Given the description of an element on the screen output the (x, y) to click on. 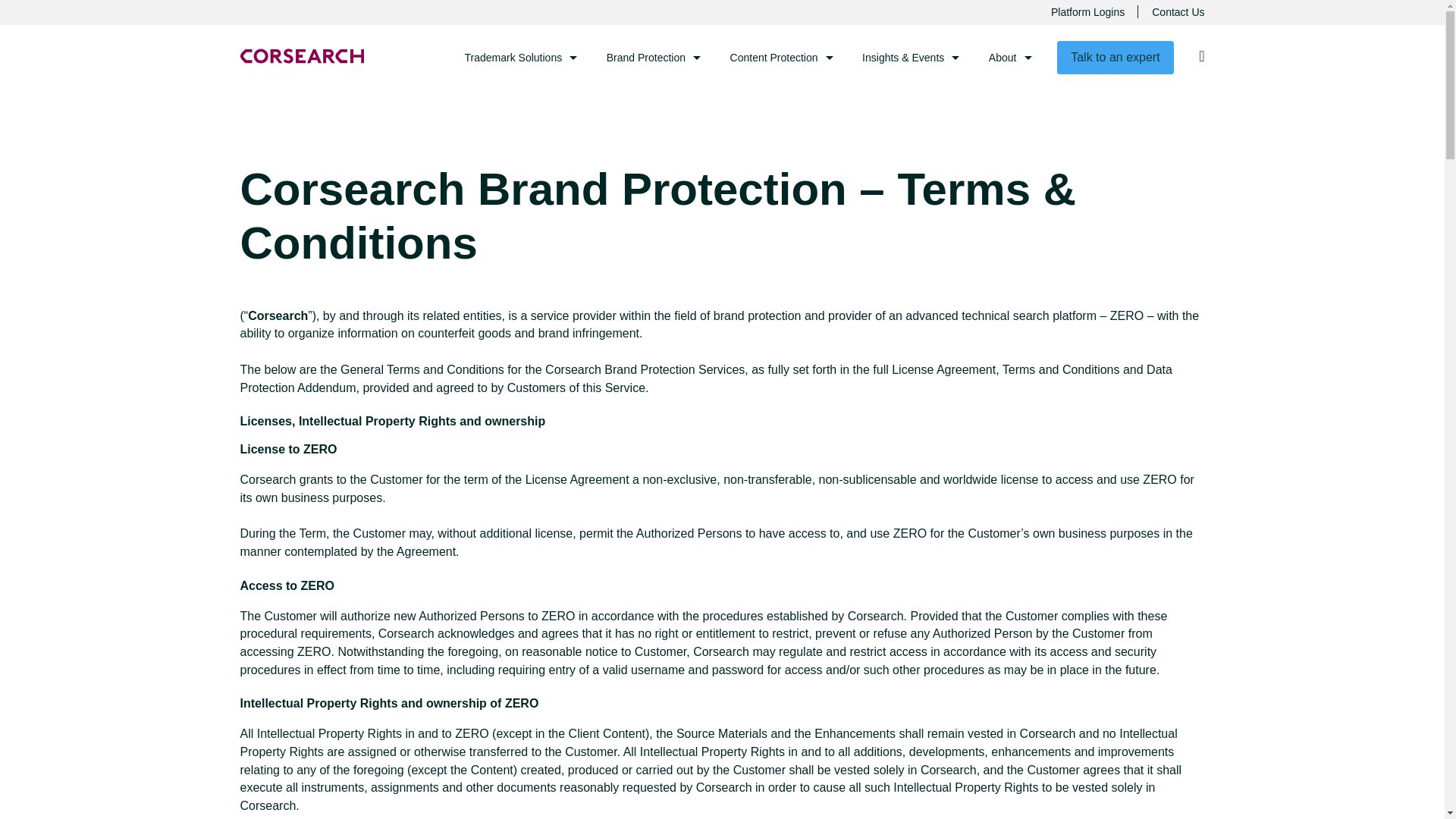
Content Protection (781, 56)
Platform Logins (1087, 12)
Trademark Solutions (520, 56)
Return to the Corsearch homepage (301, 55)
Brand Protection (653, 56)
About (1010, 56)
Contact Us (1177, 12)
Contact Us (1177, 12)
Brand Protection (653, 56)
Platform Logins (1087, 12)
